Given the description of an element on the screen output the (x, y) to click on. 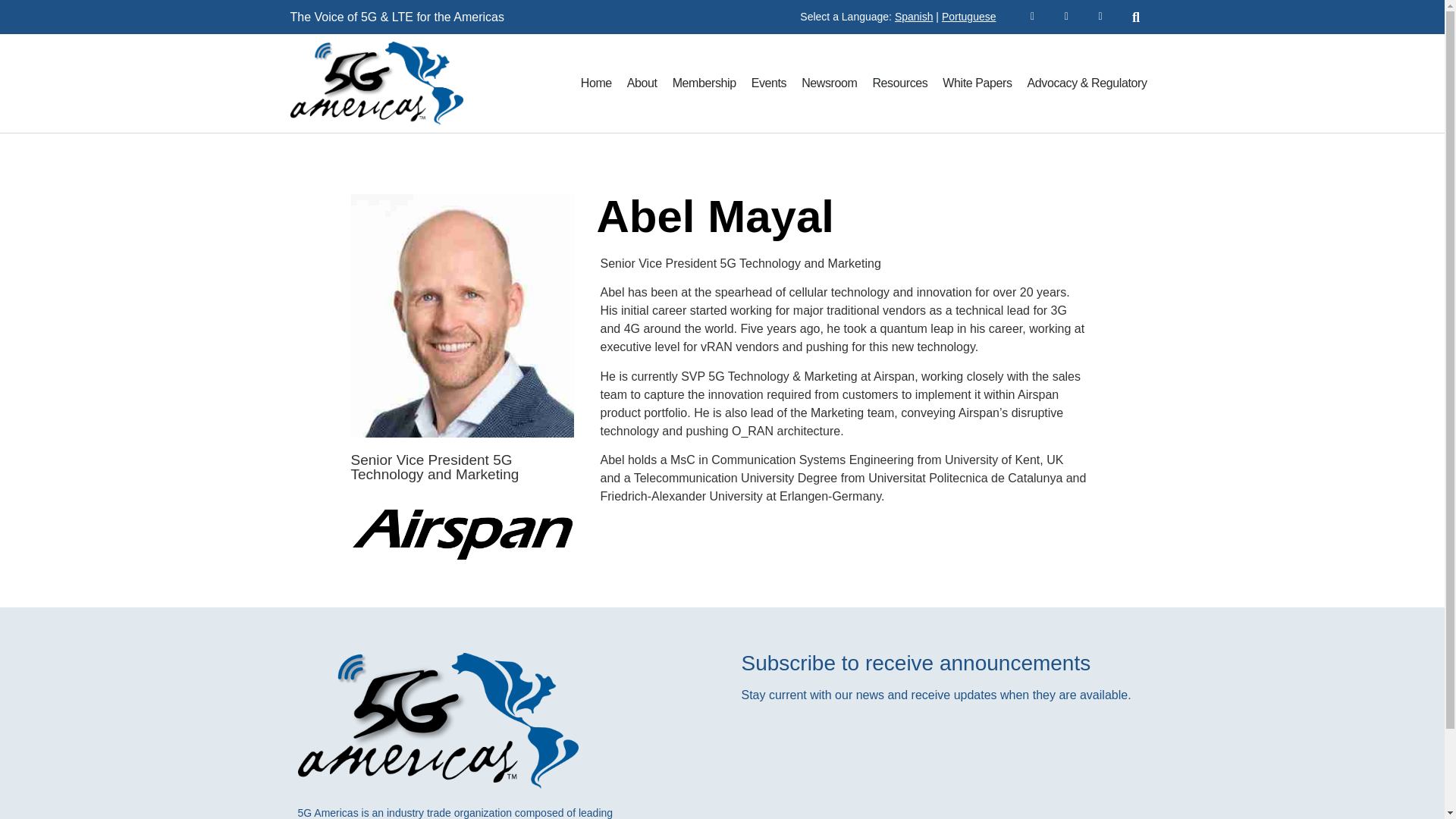
Resources (899, 82)
Newsroom (828, 82)
Membership (704, 82)
Home (596, 82)
About (642, 82)
Spanish (914, 16)
Portuguese (968, 16)
Events (769, 82)
White Papers (976, 82)
